Given the description of an element on the screen output the (x, y) to click on. 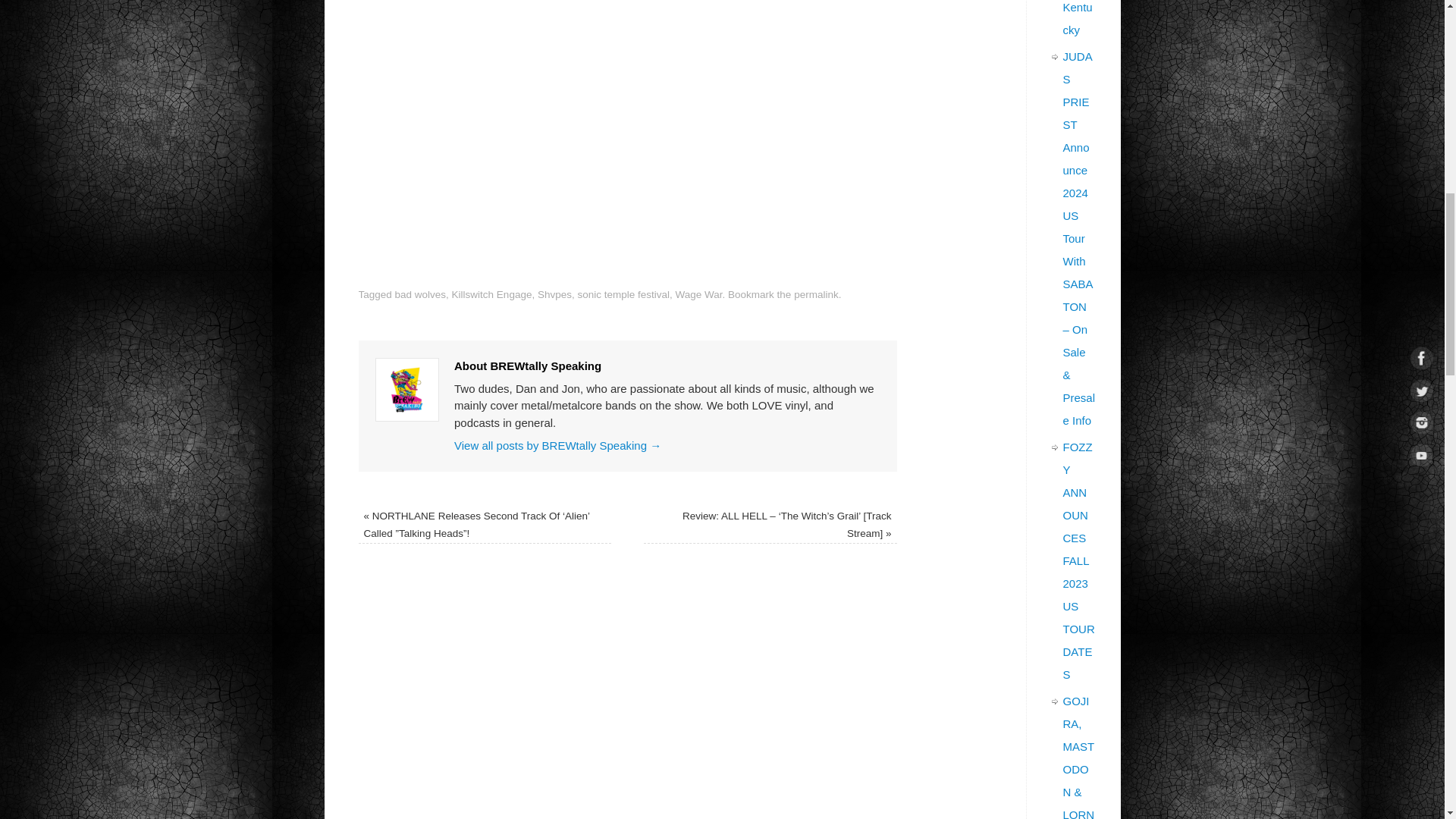
Wage War (698, 294)
Tesla Keeps It Real In Ashland, Kentucky (1079, 18)
Killswitch Engage (491, 294)
Shvpes (554, 294)
bad wolves (420, 294)
permalink (815, 294)
sonic temple festival (622, 294)
